Given the description of an element on the screen output the (x, y) to click on. 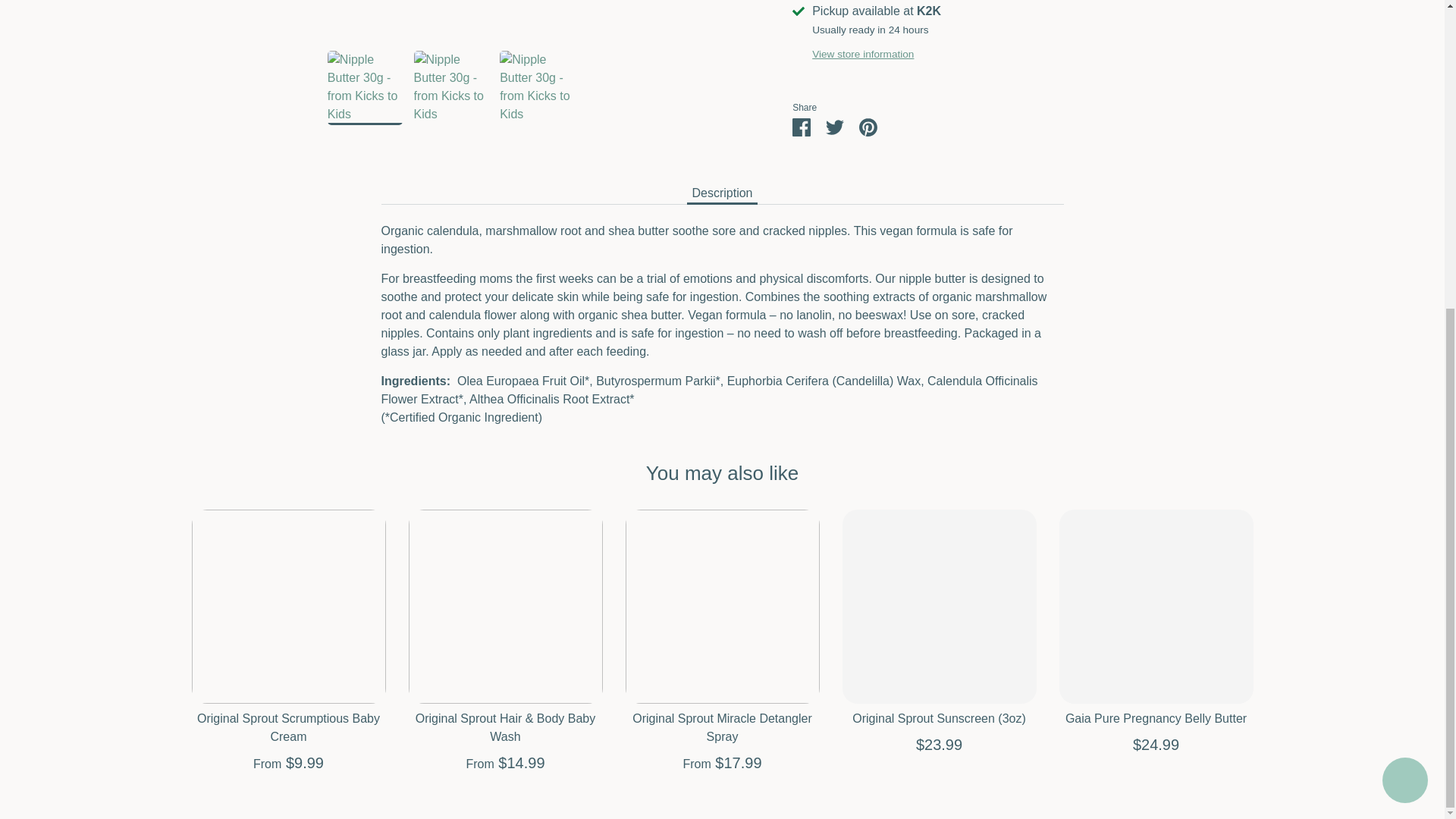
Shopify online store chat (1404, 293)
